Given the description of an element on the screen output the (x, y) to click on. 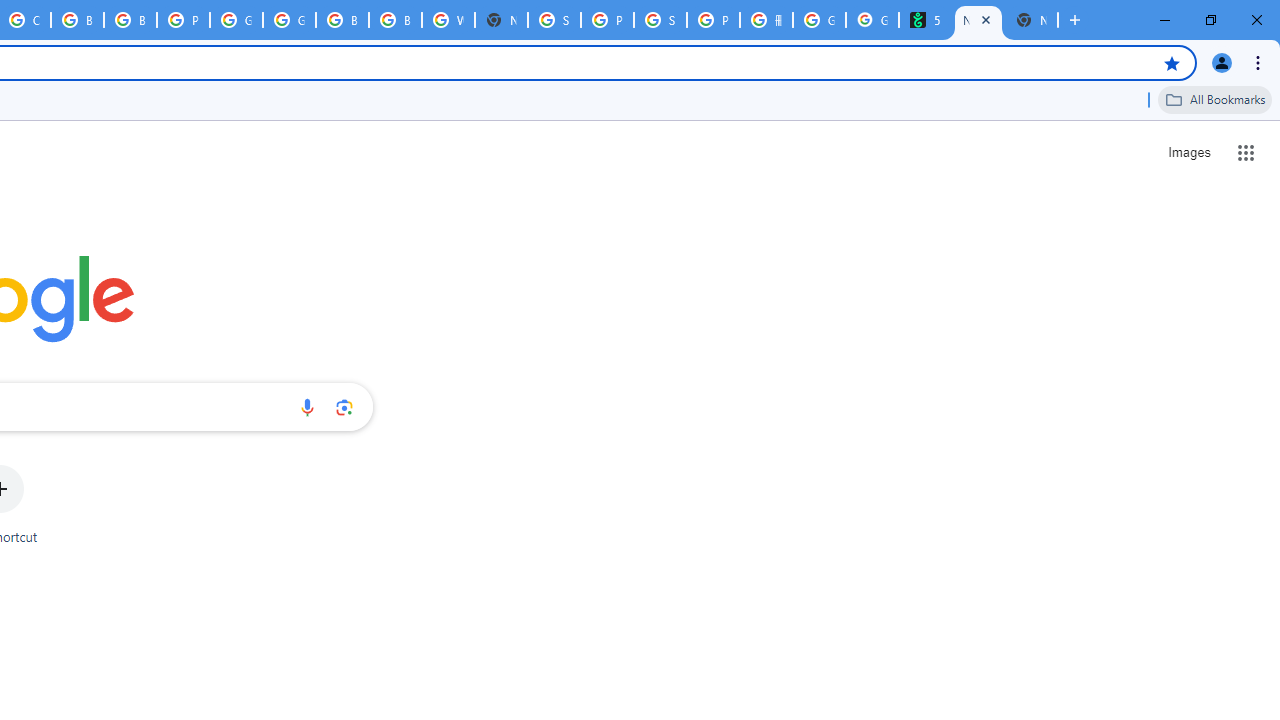
Google Cloud Platform (235, 20)
Search for Images  (1188, 152)
Sign in - Google Accounts (554, 20)
Google apps (1245, 152)
Google Cloud Platform (289, 20)
Search by image (344, 407)
New Tab (501, 20)
Browse Chrome as a guest - Computer - Google Chrome Help (395, 20)
Browse Chrome as a guest - Computer - Google Chrome Help (77, 20)
Browse Chrome as a guest - Computer - Google Chrome Help (130, 20)
